Given the description of an element on the screen output the (x, y) to click on. 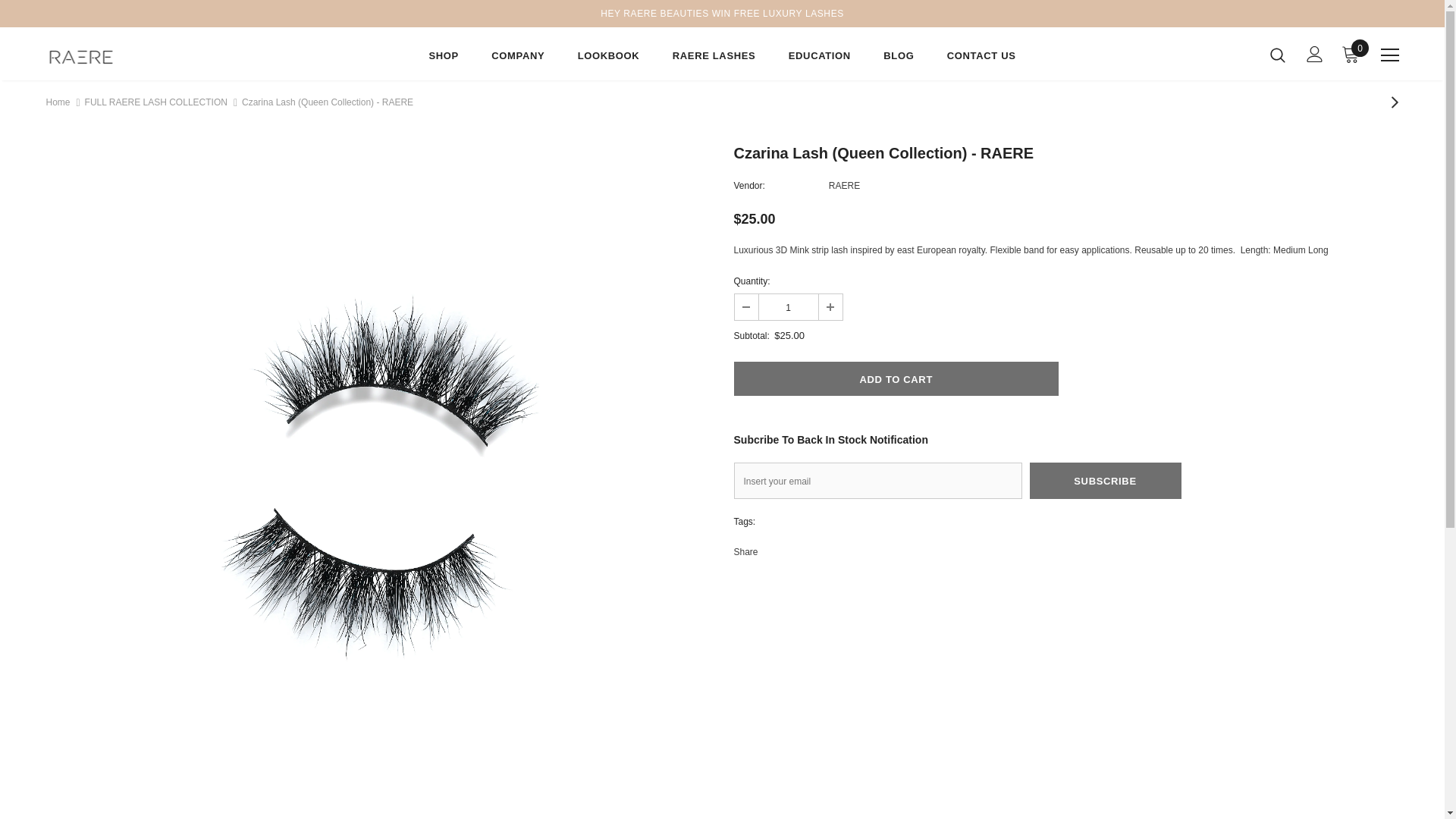
1 (787, 307)
FREE (746, 13)
EDUCATION (819, 58)
COMPANY (518, 58)
RAERE LASHES (713, 58)
Add to cart (896, 378)
LOOKBOOK (609, 58)
Logo (134, 57)
CONTACT US (981, 58)
Subscribe (1104, 480)
